Given the description of an element on the screen output the (x, y) to click on. 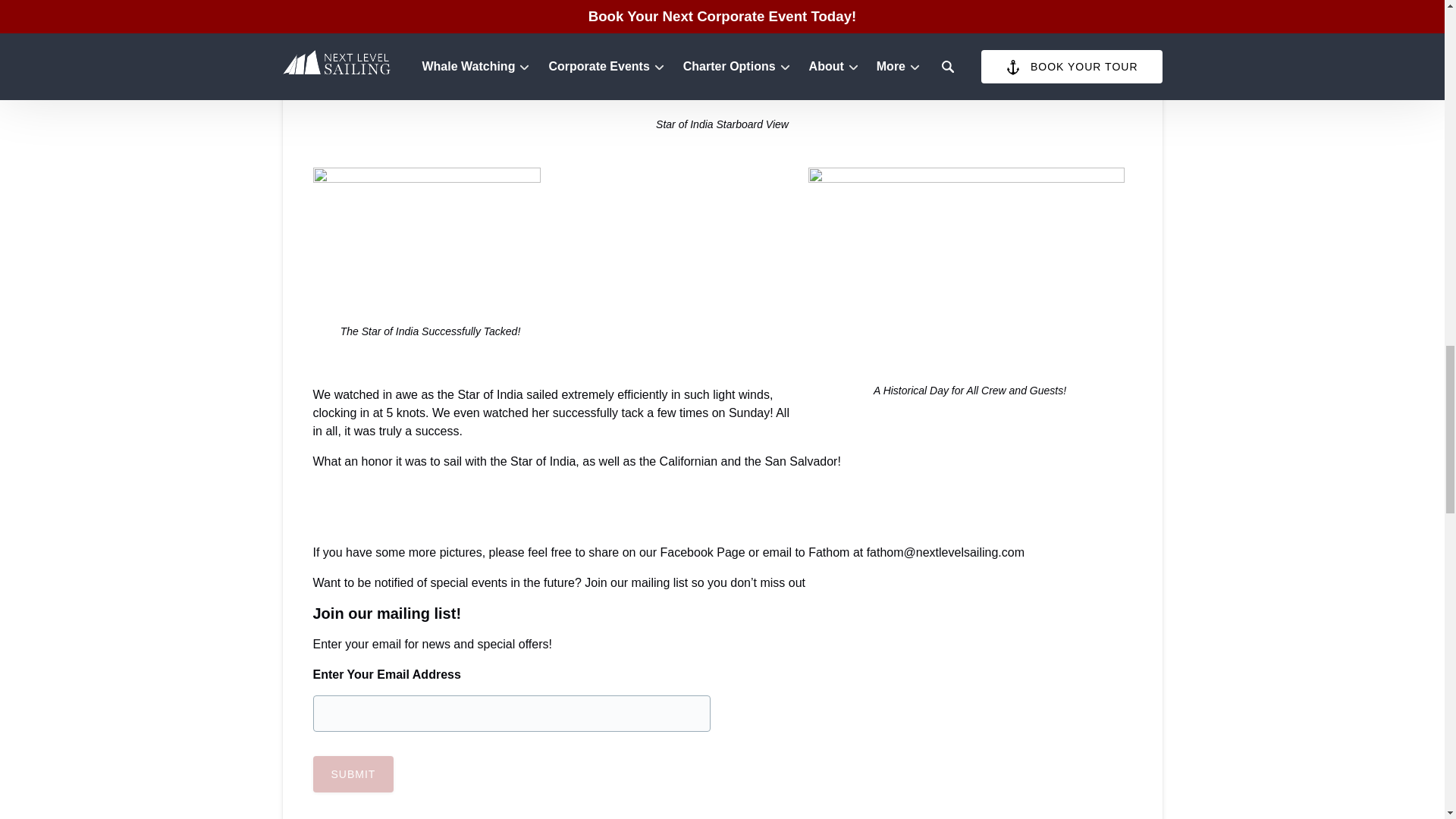
Submit (353, 773)
